Given the description of an element on the screen output the (x, y) to click on. 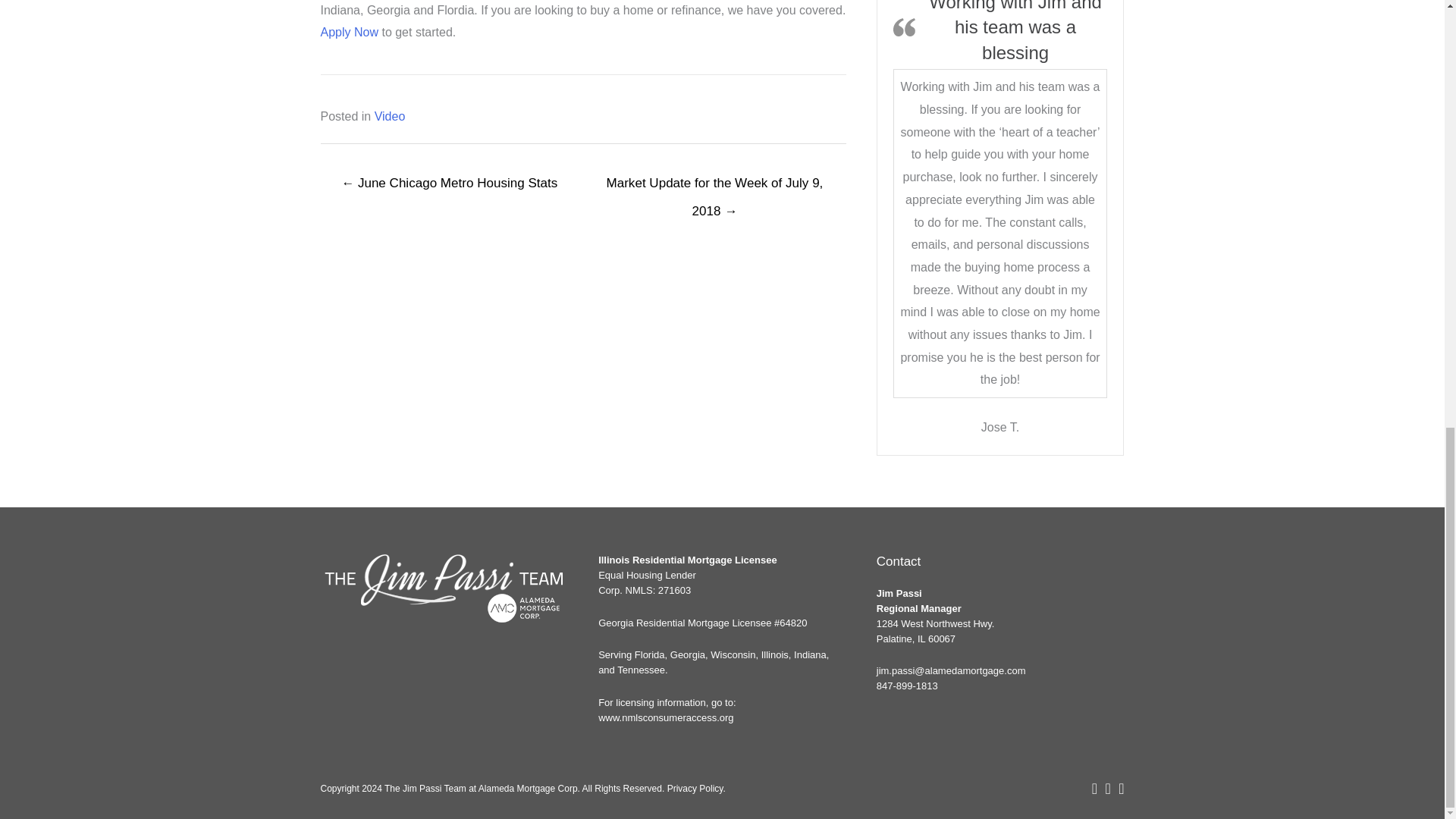
www.nmlsconsumeraccess.org (665, 717)
Video (390, 115)
Apply Now (348, 31)
Working with Jim and his team was a blessing (1015, 31)
Privacy Policy (694, 787)
847-899-1813 (906, 685)
logo-jim-passi-team-white (443, 588)
